Given the description of an element on the screen output the (x, y) to click on. 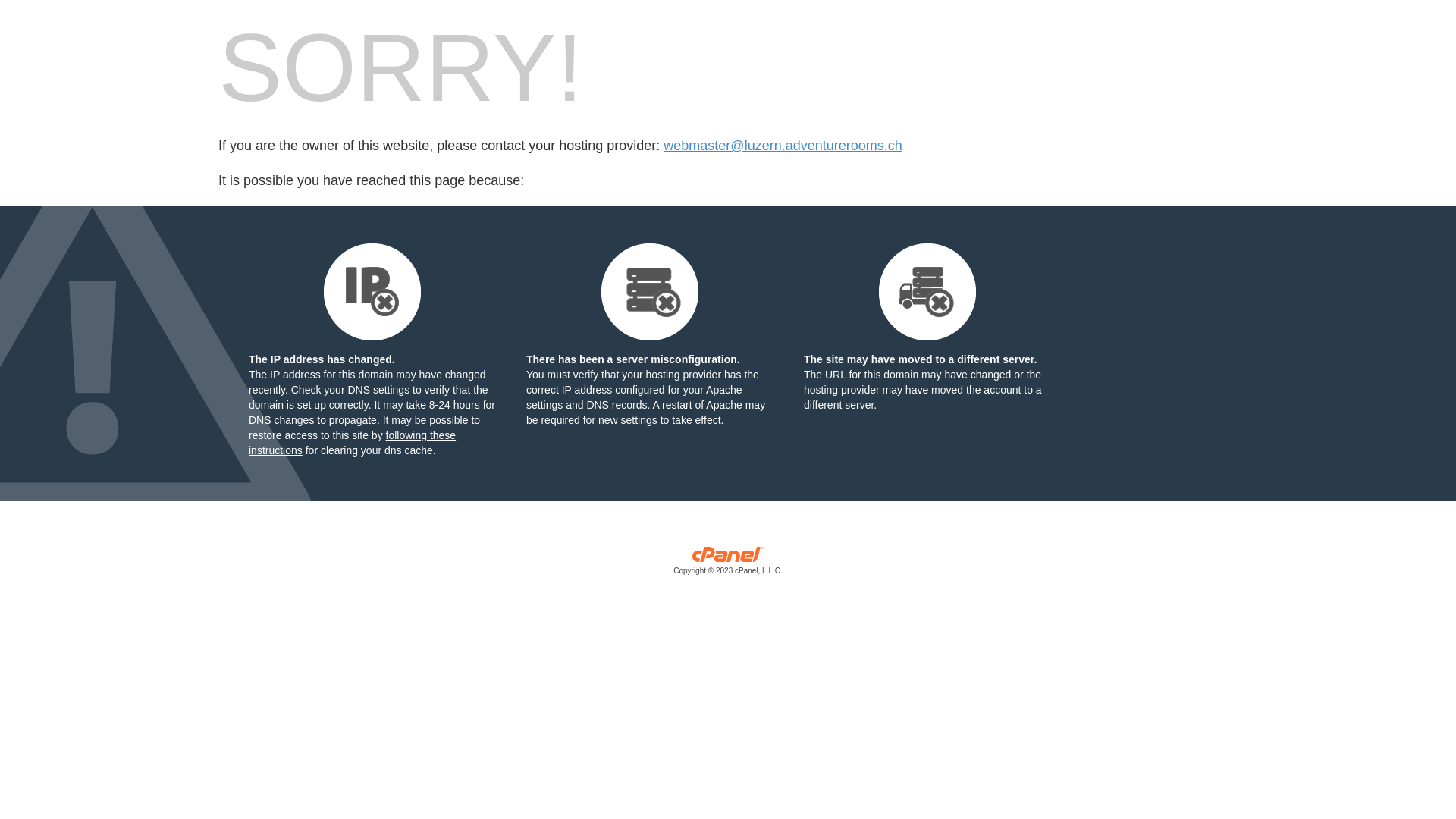
following these instructions Element type: text (351, 442)
webmaster@luzern.adventurerooms.ch Element type: text (782, 145)
